Given the description of an element on the screen output the (x, y) to click on. 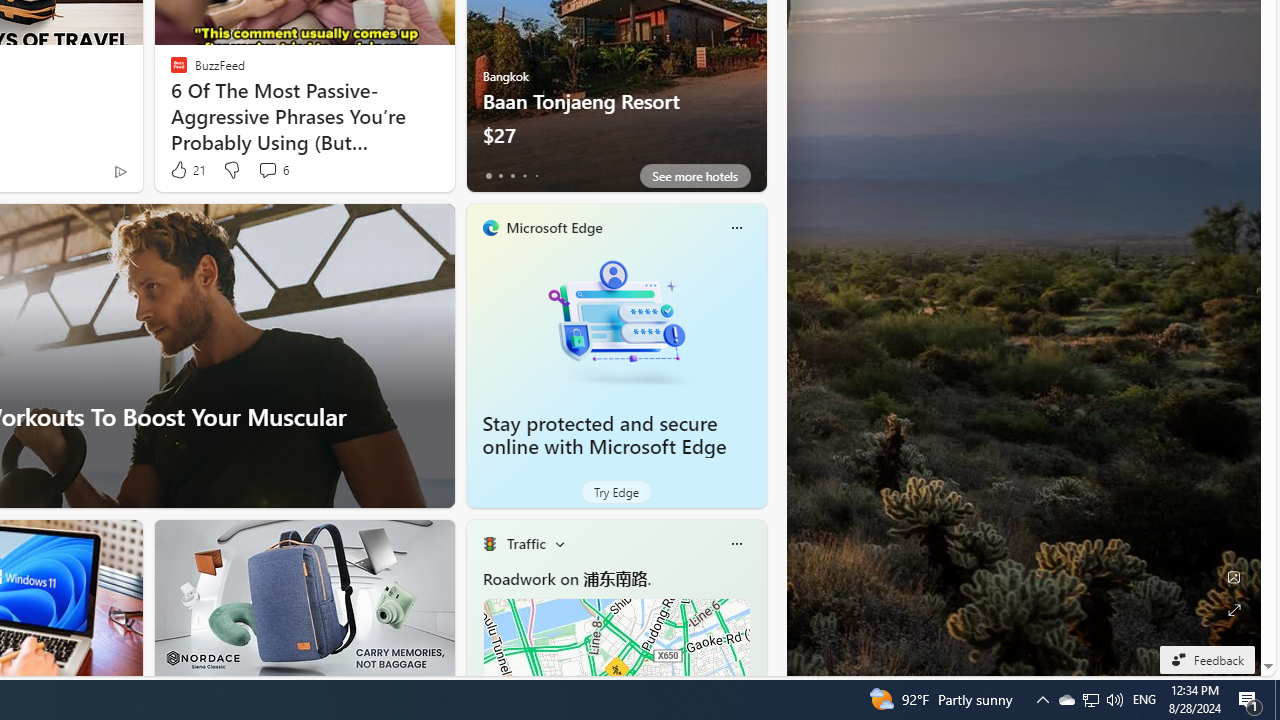
More options (736, 543)
tab-1 (500, 175)
21 Like (186, 170)
Try Edge (616, 491)
tab-0 (488, 175)
View comments 6 Comment (267, 169)
tab-4 (535, 175)
Expand background (1233, 610)
Change scenarios (559, 543)
See more hotels (694, 175)
Stay protected and secure online with Microsoft Edge (604, 435)
tab-3 (524, 175)
tab-2 (511, 175)
Dislike (230, 170)
Stay protected and secure online with Microsoft Edge (616, 321)
